Given the description of an element on the screen output the (x, y) to click on. 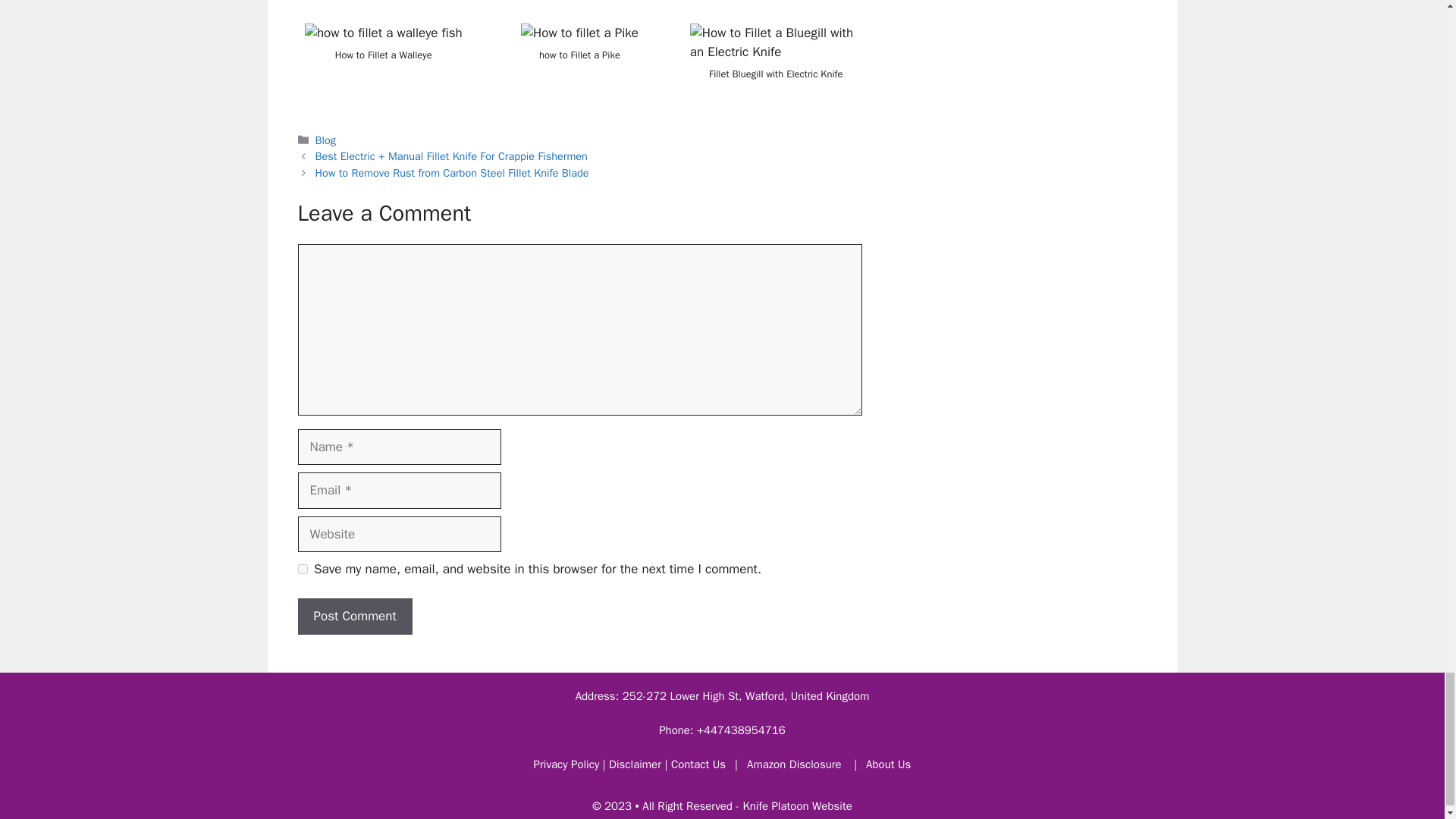
yes (302, 569)
Post Comment (354, 616)
